Given the description of an element on the screen output the (x, y) to click on. 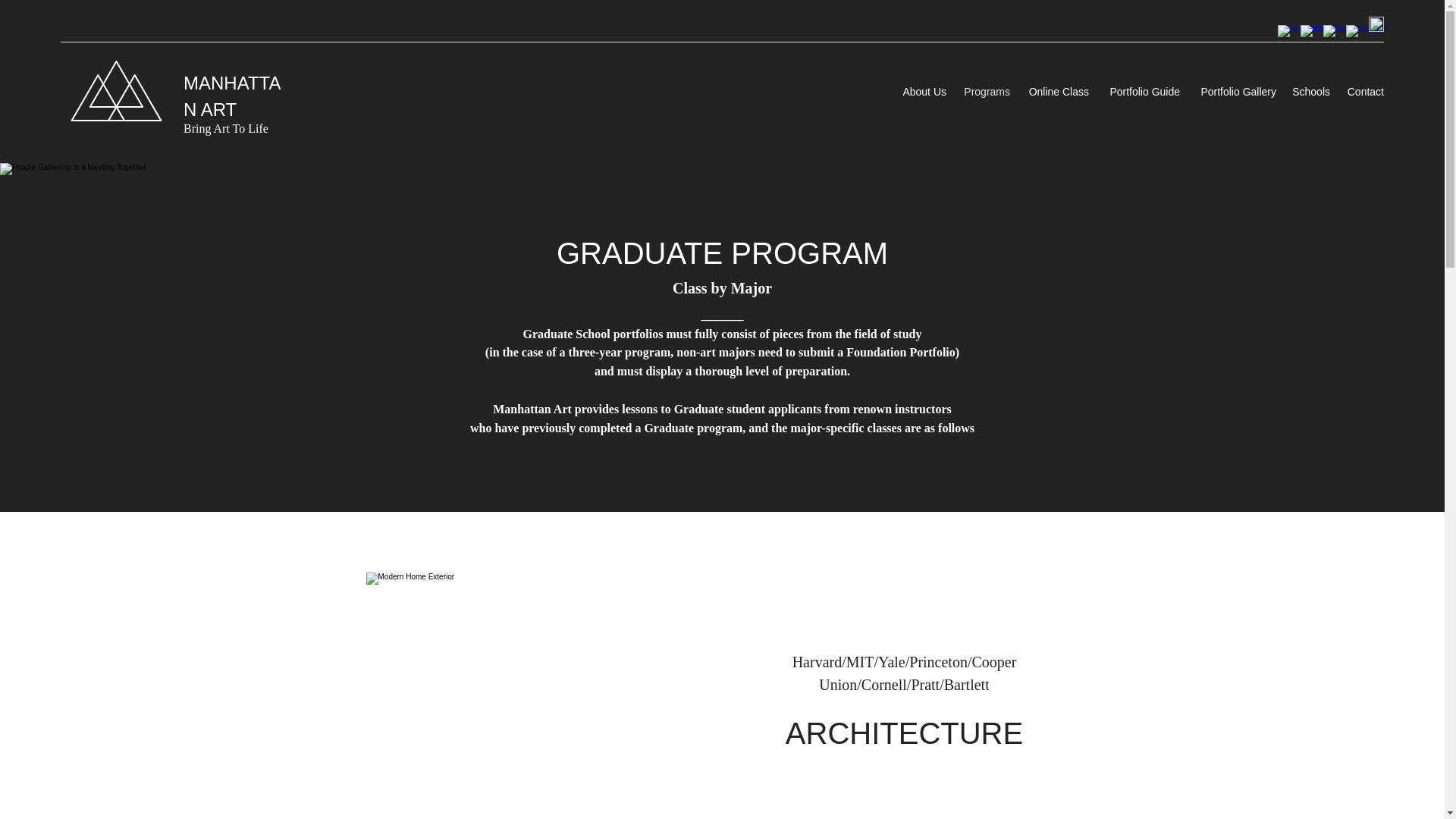
Online Class (1056, 91)
Schools (1311, 91)
Portfolio Guide (1142, 91)
Contact (1364, 91)
Portfolio Gallery (1236, 91)
About Us (922, 91)
Programs (985, 91)
